Given the description of an element on the screen output the (x, y) to click on. 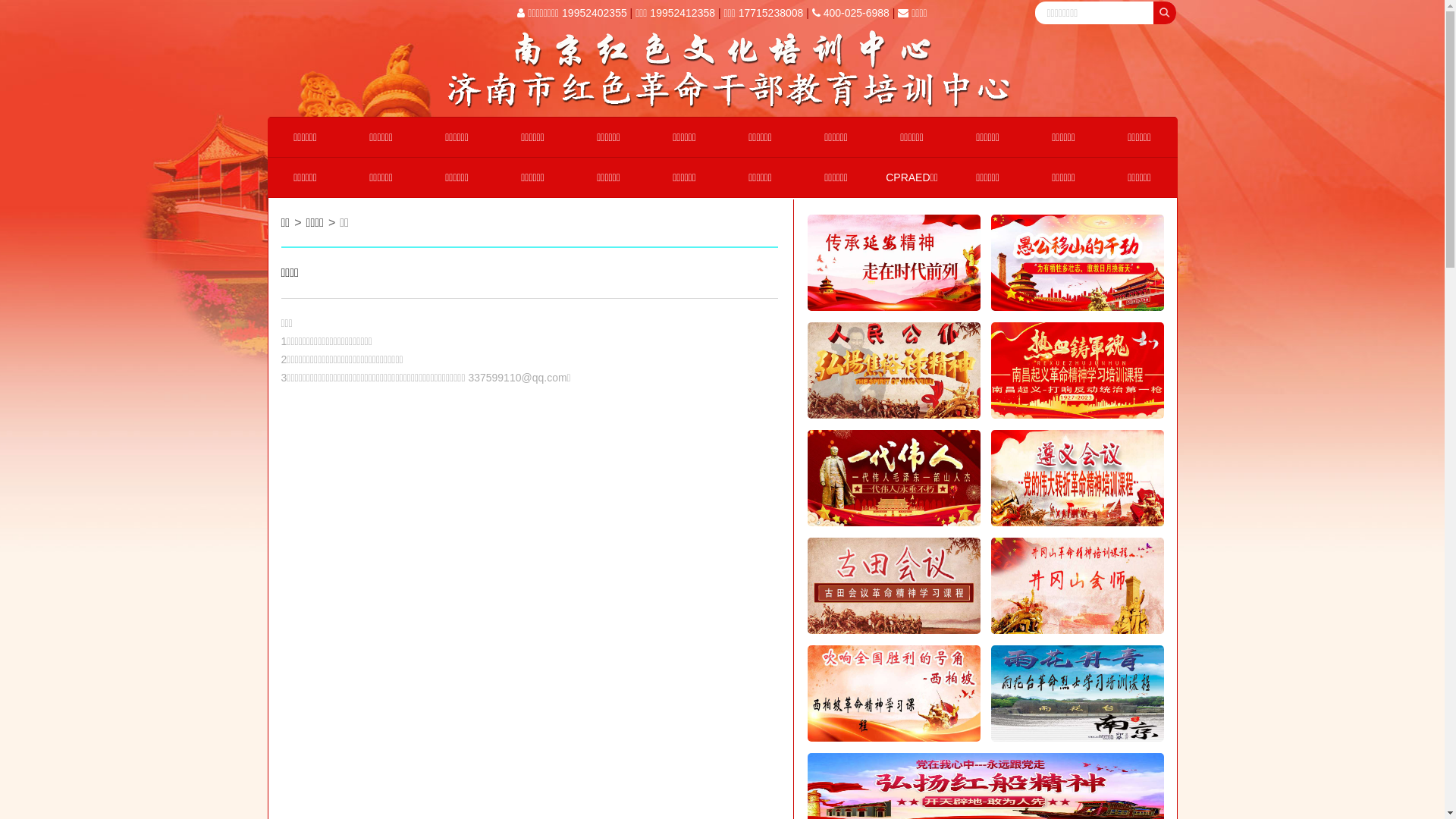
400-025-6988 Element type: text (850, 12)
